Given the description of an element on the screen output the (x, y) to click on. 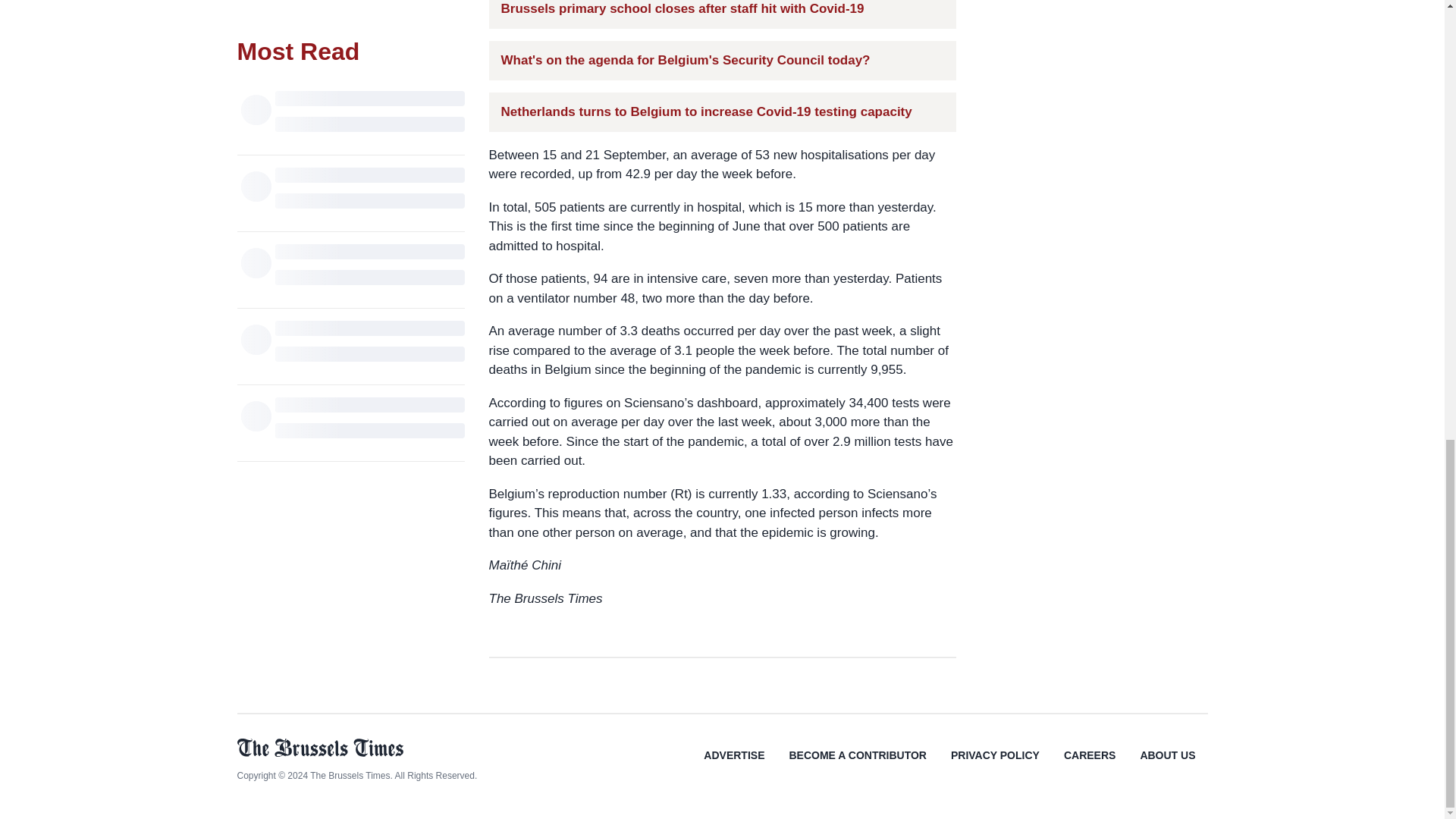
PRIVACY POLICY (995, 766)
CAREERS (1088, 766)
ADVERTISE (733, 766)
ABOUT US (1166, 766)
BECOME A CONTRIBUTOR (856, 766)
What's on the agenda for Belgium's Security Council today? (684, 60)
Brussels primary school closes after staff hit with Covid-19 (681, 8)
